Given the description of an element on the screen output the (x, y) to click on. 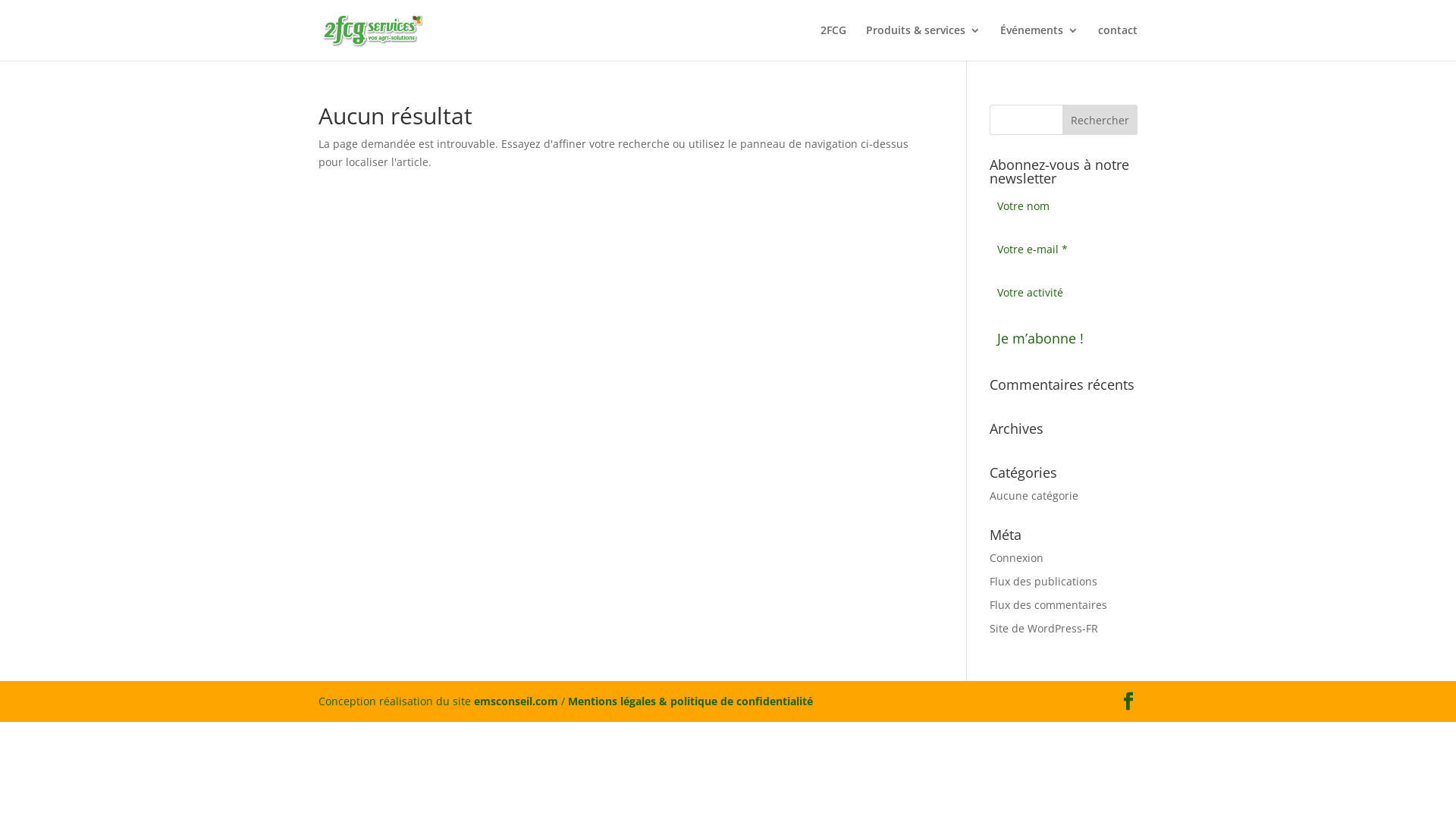
contact Element type: text (1117, 42)
Flux des publications Element type: text (1043, 581)
Votre e-mail Element type: hover (1063, 249)
Produits & services Element type: text (923, 42)
Connexion Element type: text (1016, 557)
Rechercher Element type: text (1099, 119)
2FCG Element type: text (833, 42)
Site de WordPress-FR Element type: text (1043, 628)
Flux des commentaires Element type: text (1048, 604)
emsconseil.com Element type: text (515, 700)
Votre nom Element type: hover (1063, 206)
